Given the description of an element on the screen output the (x, y) to click on. 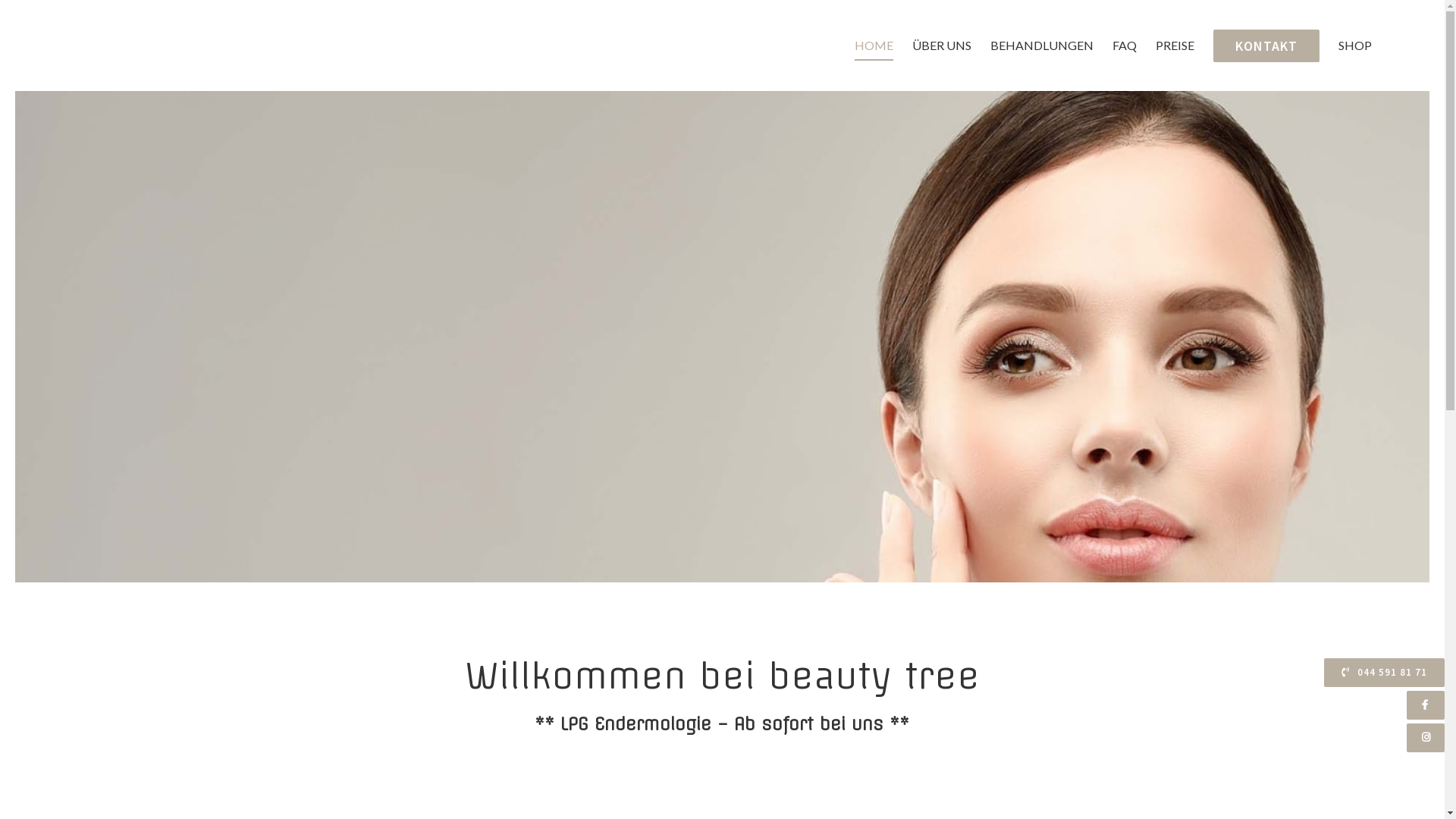
KONTAKT Element type: text (1266, 45)
PREISE Element type: text (1174, 45)
FAQ Element type: text (1124, 45)
logo Element type: hover (159, 336)
SHOP Element type: text (1354, 45)
HOME Element type: text (873, 45)
044 591 81 71 Element type: text (1384, 672)
BEHANDLUNGEN Element type: text (1041, 45)
